Given the description of an element on the screen output the (x, y) to click on. 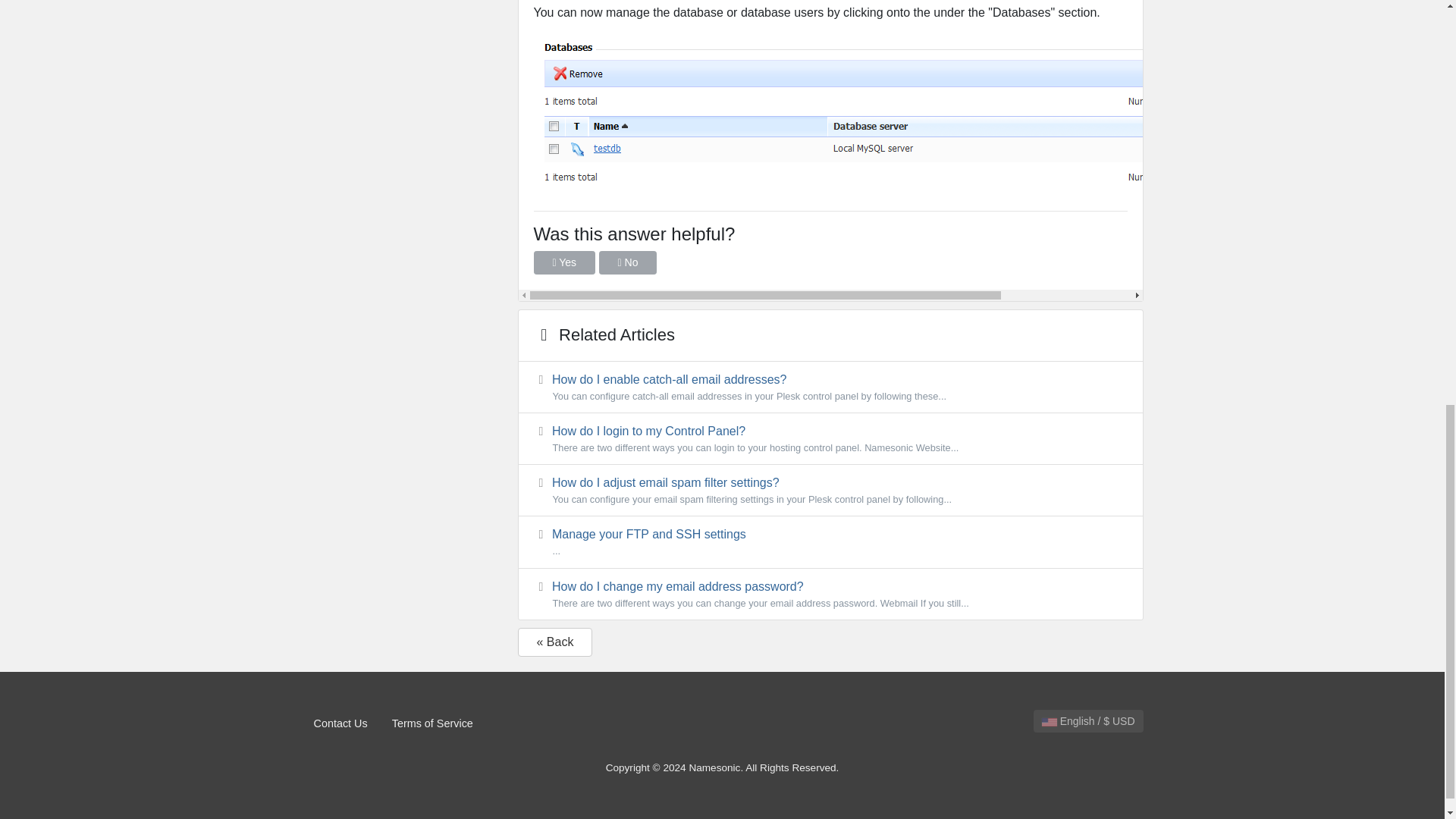
No (628, 262)
Yes (564, 262)
